Given the description of an element on the screen output the (x, y) to click on. 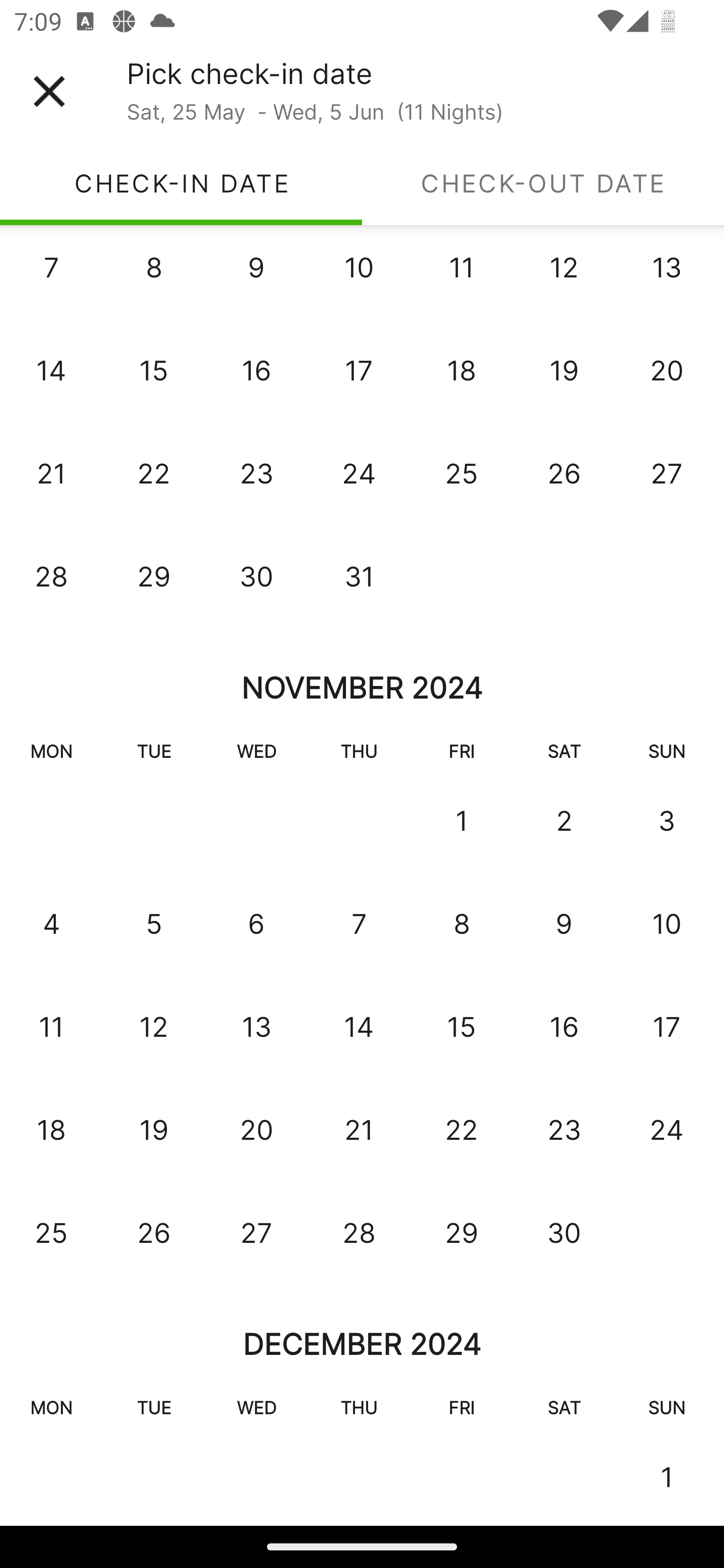
Check-out Date CHECK-OUT DATE (543, 183)
